Given the description of an element on the screen output the (x, y) to click on. 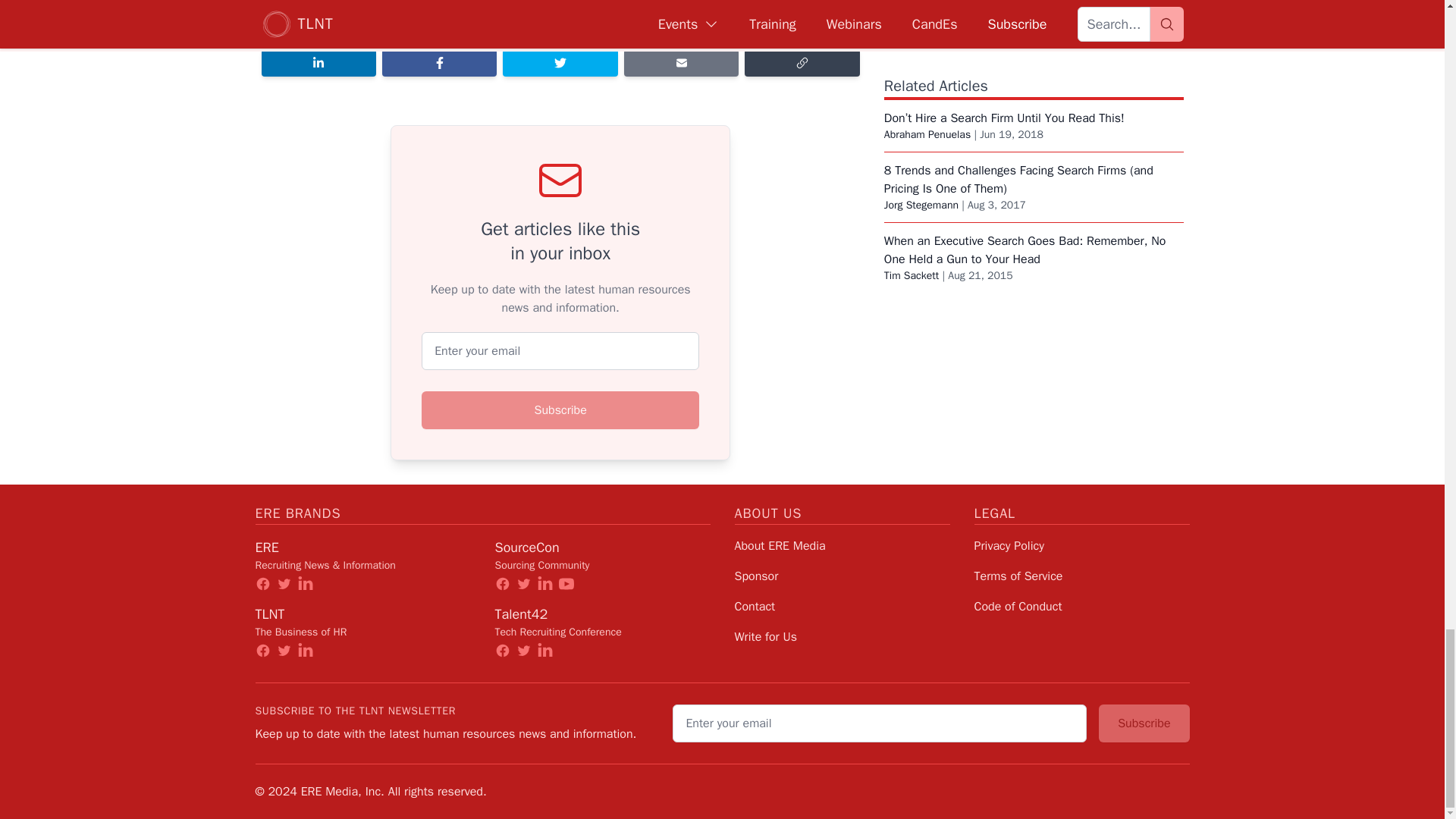
Subscribe (560, 410)
ERE (266, 547)
